Given the description of an element on the screen output the (x, y) to click on. 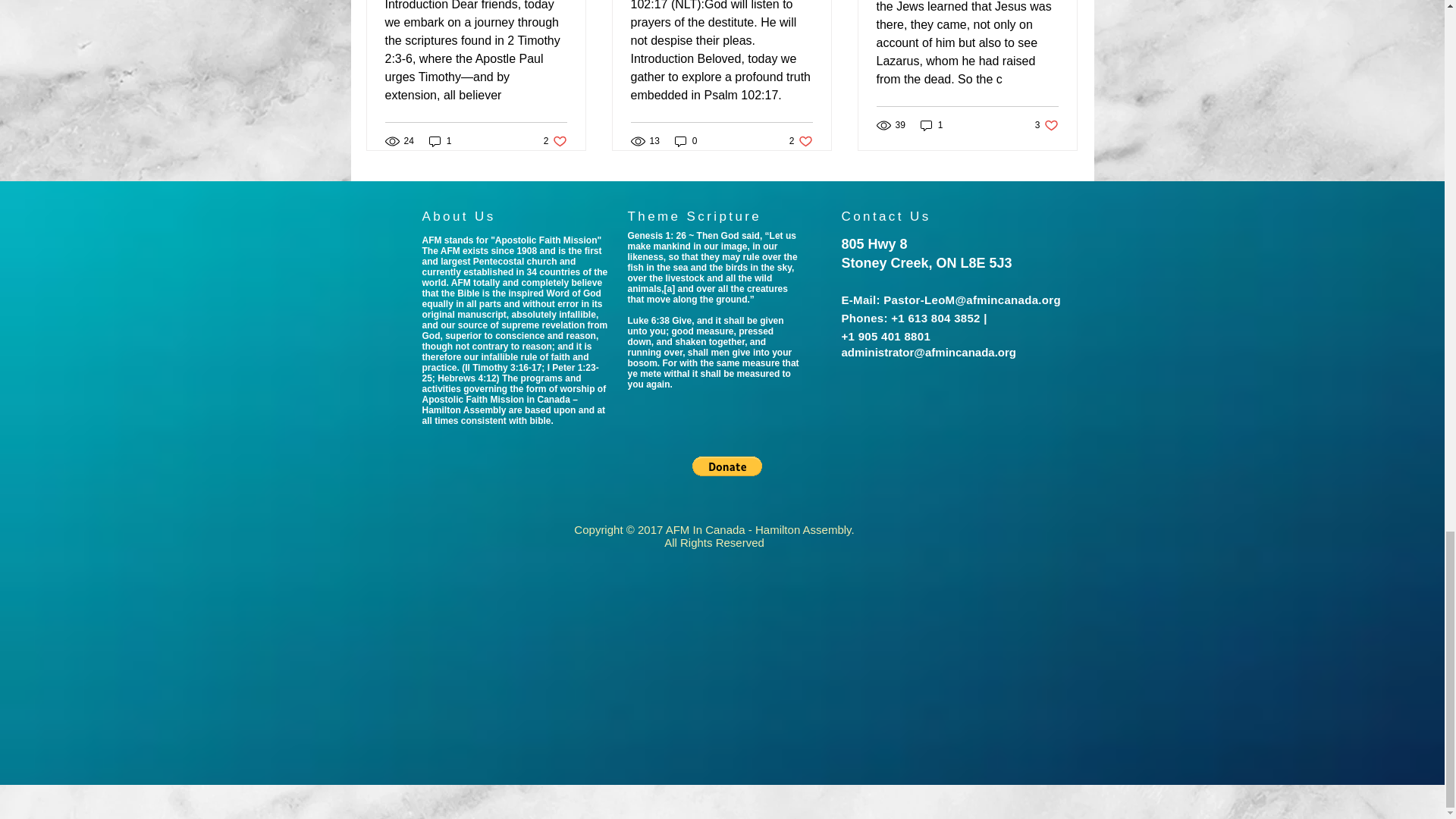
0 (685, 140)
1 (440, 140)
1 (555, 140)
